Given the description of an element on the screen output the (x, y) to click on. 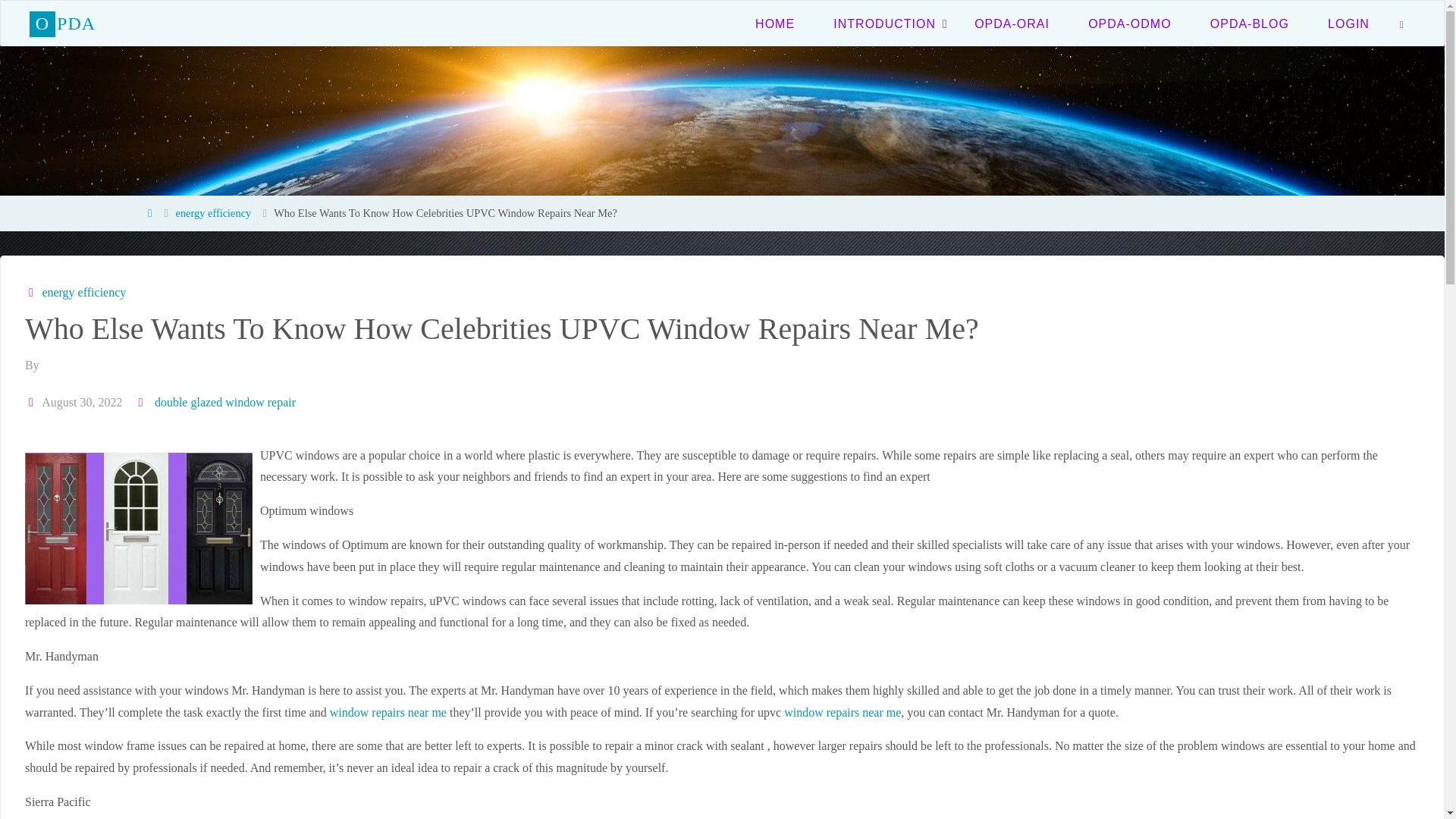
window repairs near me (842, 712)
LOGIN (1348, 22)
OPDA (62, 22)
HOME (774, 22)
OPDA-BLOG (1249, 22)
Tagged (142, 401)
Making great decisions by optimization solutions (62, 22)
INTRODUCTION (884, 22)
energy efficiency (213, 213)
energy efficiency (82, 291)
window repairs near me (388, 712)
double glazed window repair (223, 401)
Home (149, 213)
OPDA-ORAI (1011, 22)
View all posts by  (43, 364)
